Given the description of an element on the screen output the (x, y) to click on. 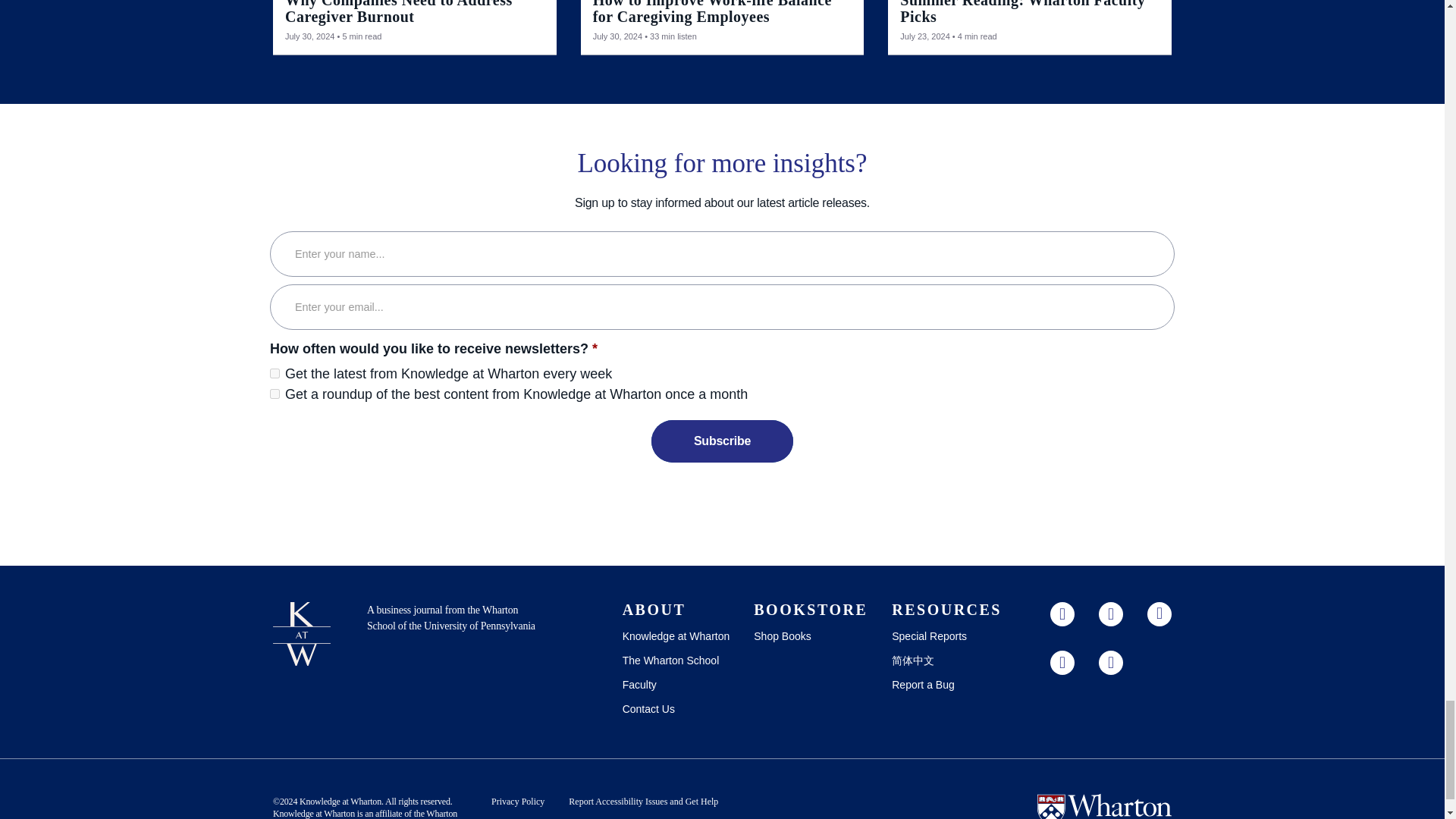
6825401 (274, 393)
6836382 (274, 373)
Knowledge at Wharton (314, 813)
Knowledge at Wharton (340, 801)
